Given the description of an element on the screen output the (x, y) to click on. 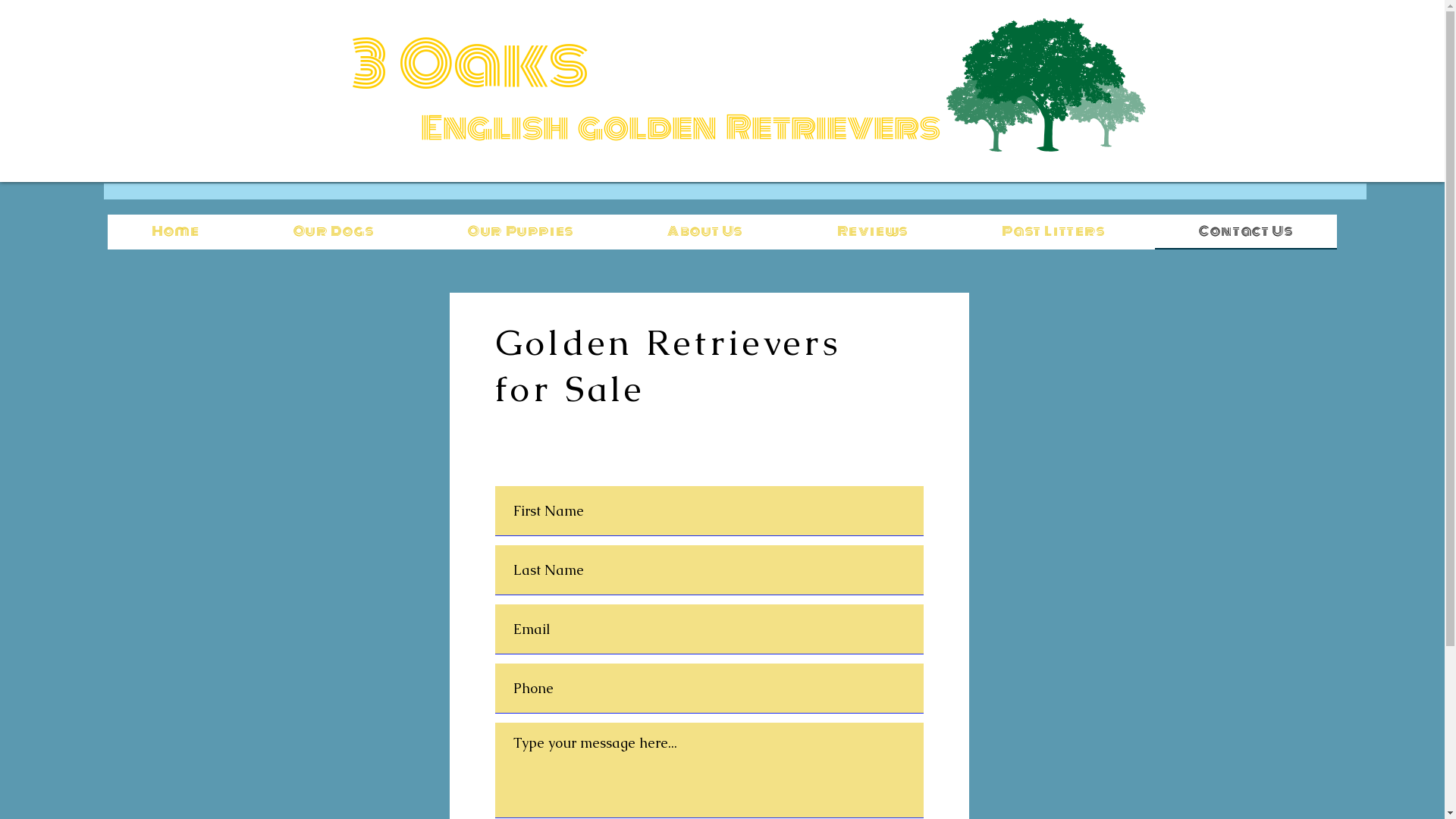
Home Element type: text (175, 231)
Contact Us Element type: text (1245, 231)
Reviews Element type: text (872, 231)
About Us Element type: text (705, 231)
Our Puppies Element type: text (520, 231)
Past Litters Element type: text (1053, 231)
Our Dogs Element type: text (333, 231)
